Given the description of an element on the screen output the (x, y) to click on. 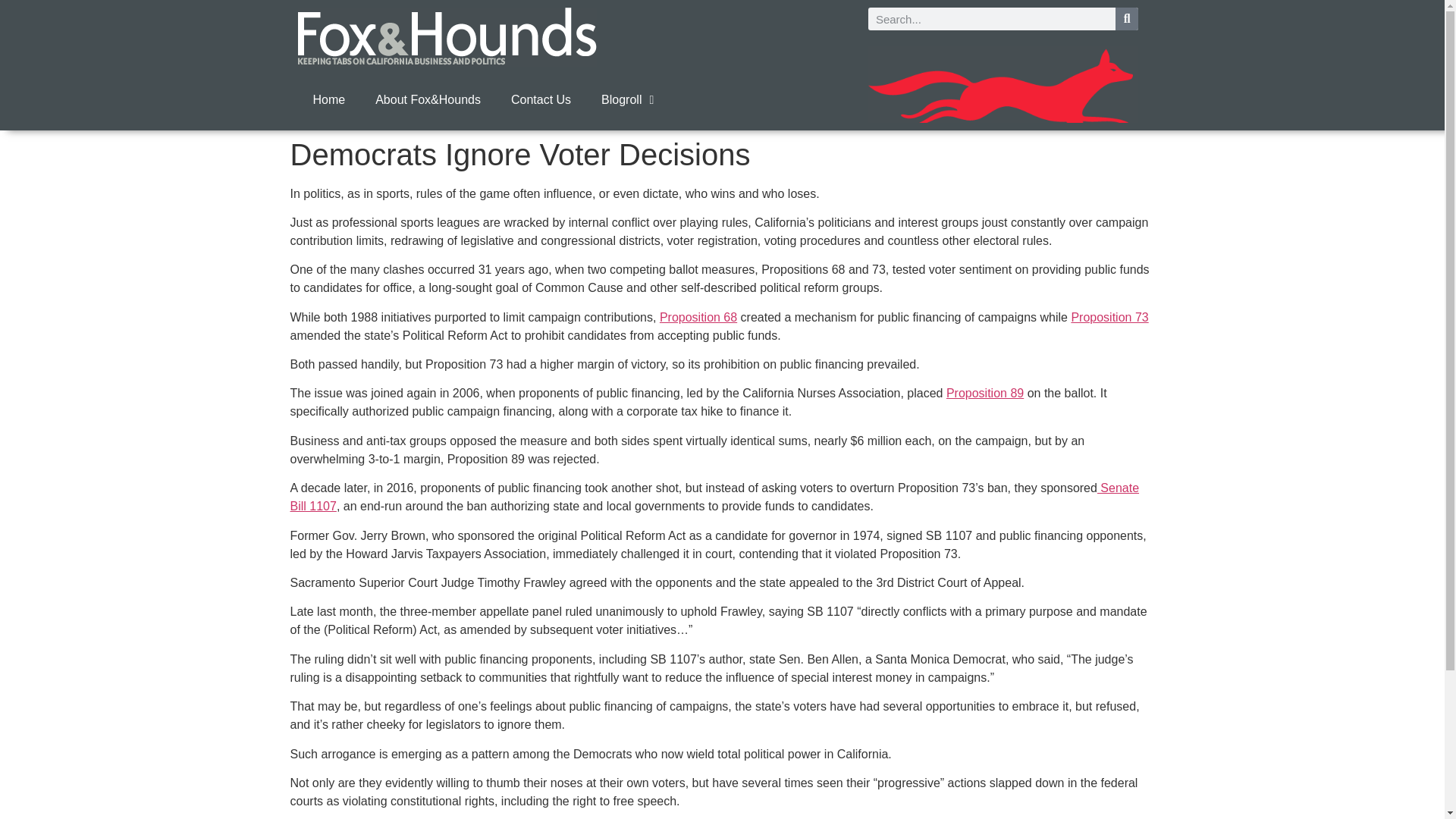
Home (328, 99)
Blogroll (627, 99)
Proposition 73 (1109, 317)
Proposition 68 (697, 317)
Contact Us (541, 99)
Proposition 89 (984, 392)
Senate Bill 1107 (713, 496)
